Given the description of an element on the screen output the (x, y) to click on. 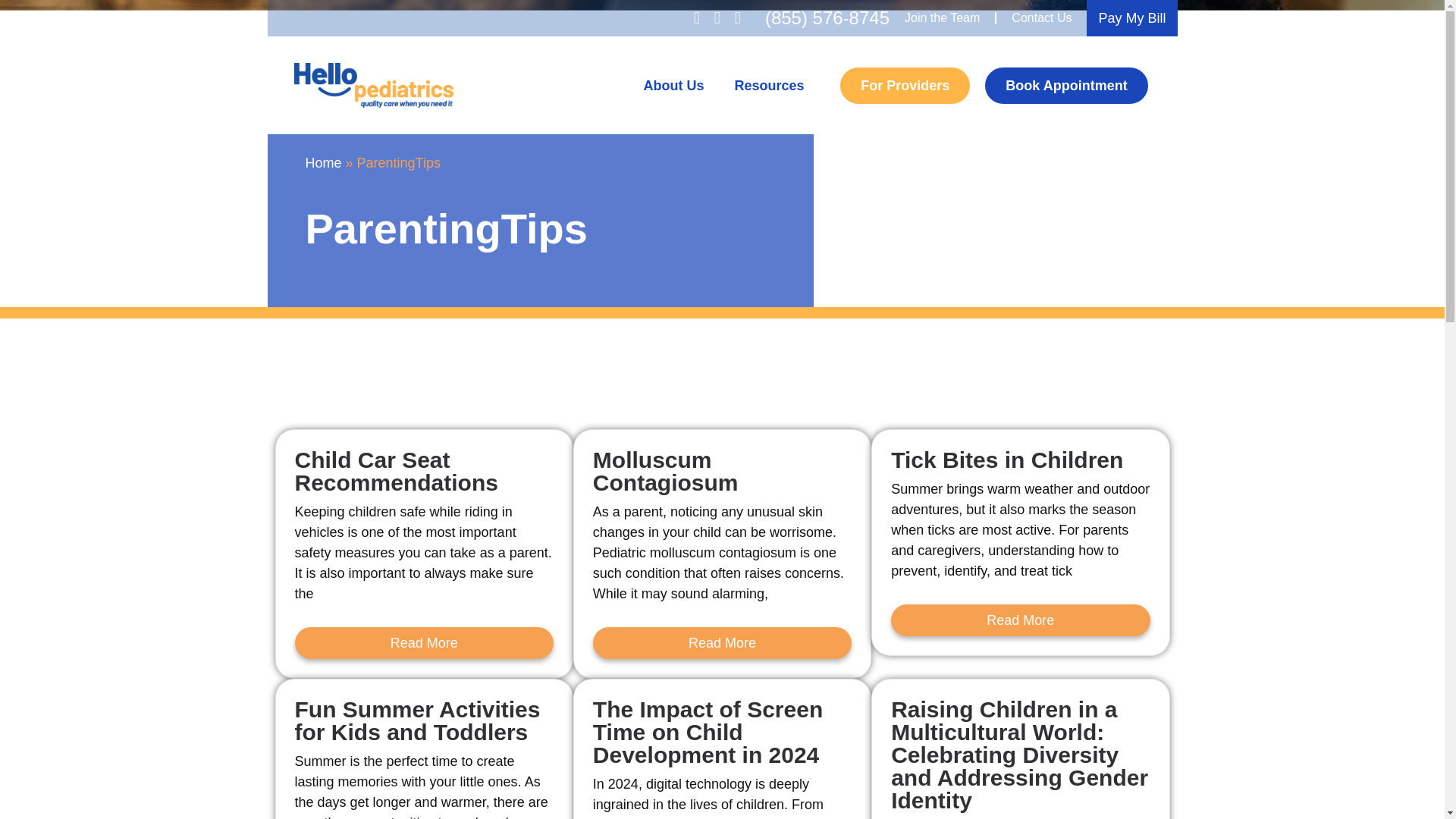
Read More (423, 643)
Read More (721, 643)
Contact Us (1040, 18)
Resources (768, 85)
Read More (1020, 620)
About Us (673, 85)
For Providers (904, 85)
Join the Team (941, 18)
Book Appointment (1066, 85)
Pay My Bill (1131, 18)
Home (322, 162)
